Given the description of an element on the screen output the (x, y) to click on. 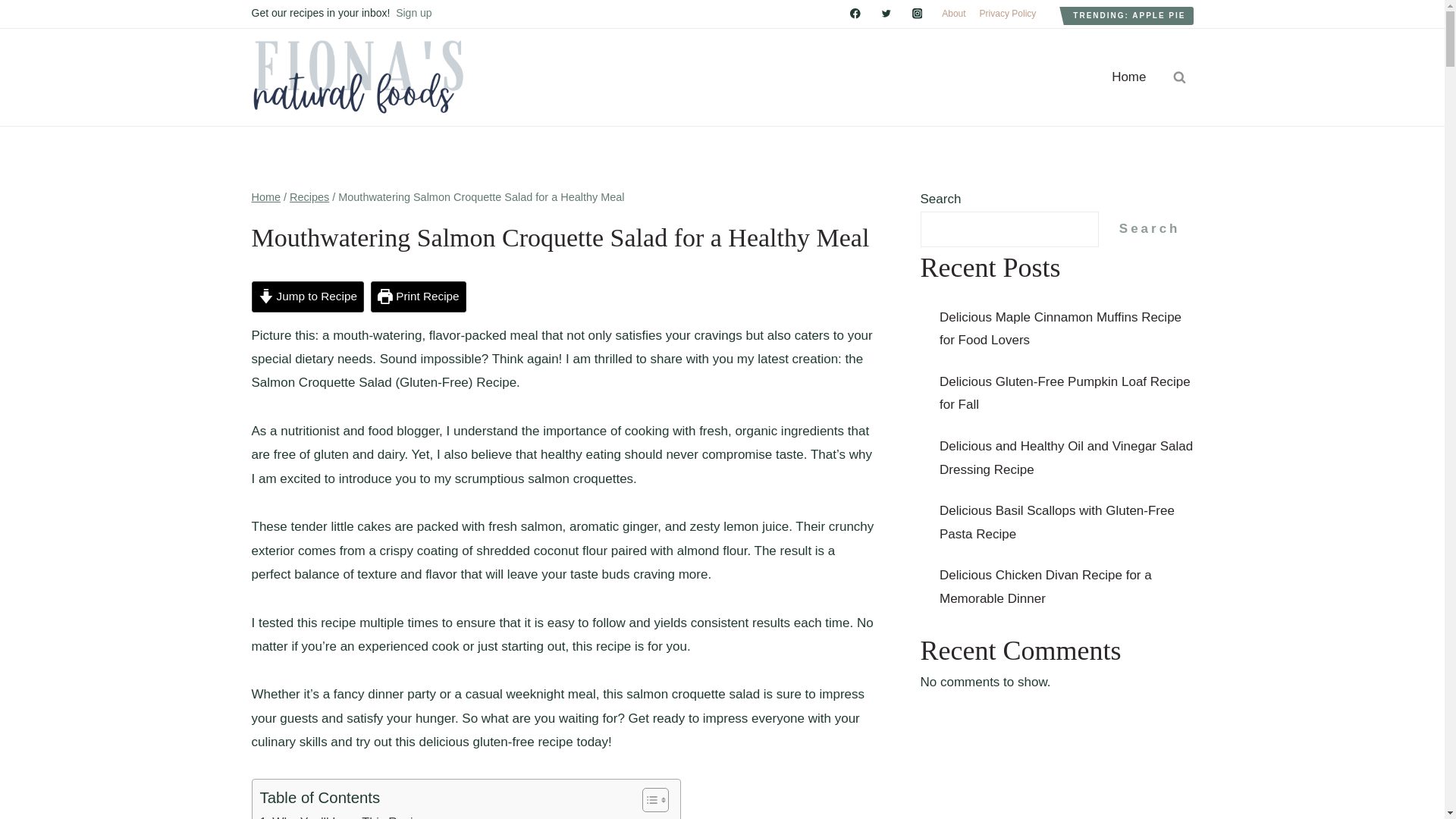
About (953, 13)
Home (266, 196)
Recipes (309, 196)
Privacy Policy (1007, 13)
Home (1128, 77)
Print Recipe (418, 296)
Jump to Recipe (307, 296)
Sign up (413, 12)
TRENDING: APPLE PIE (1128, 15)
